Given the description of an element on the screen output the (x, y) to click on. 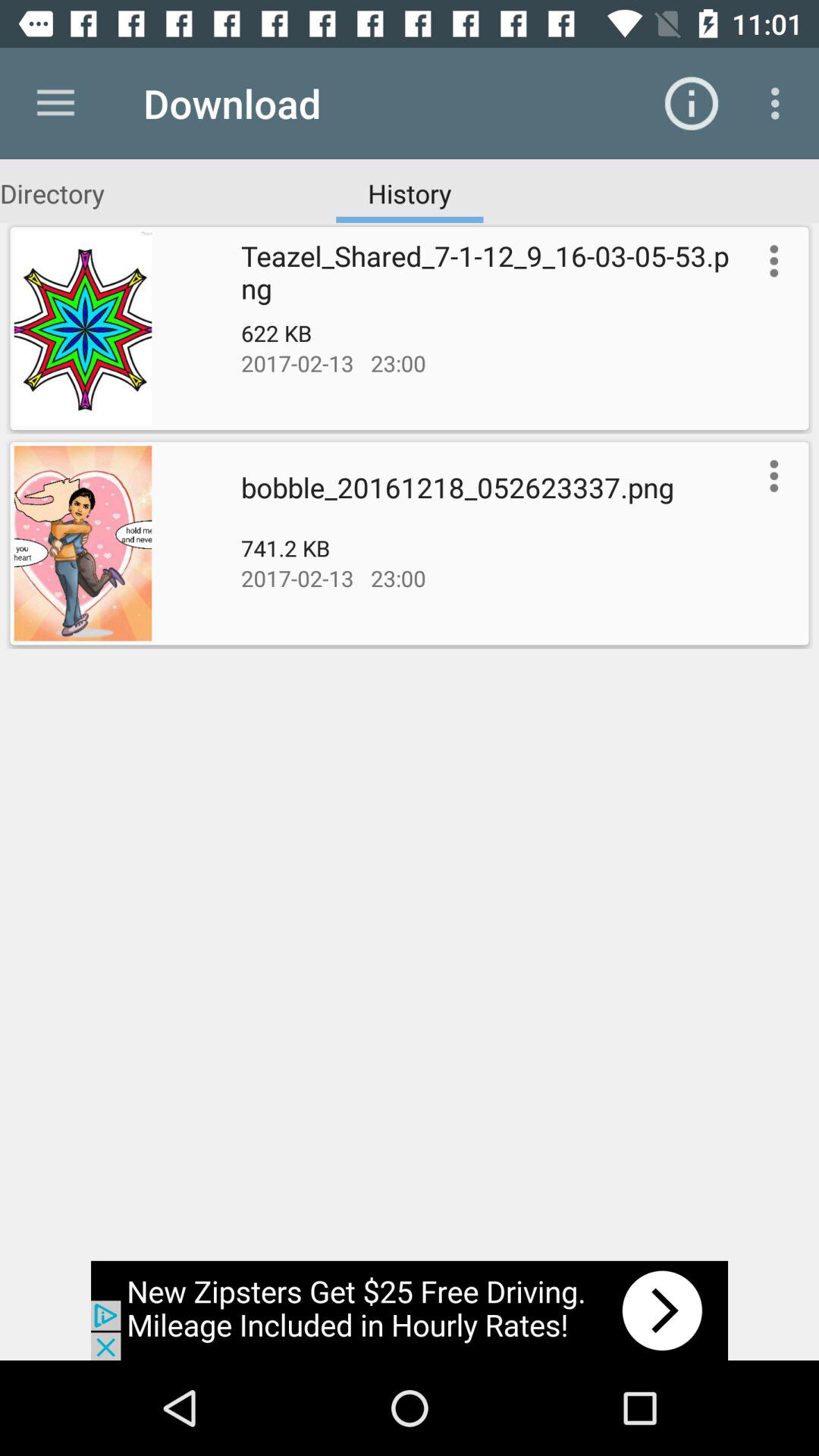
advertisement (409, 1310)
